Given the description of an element on the screen output the (x, y) to click on. 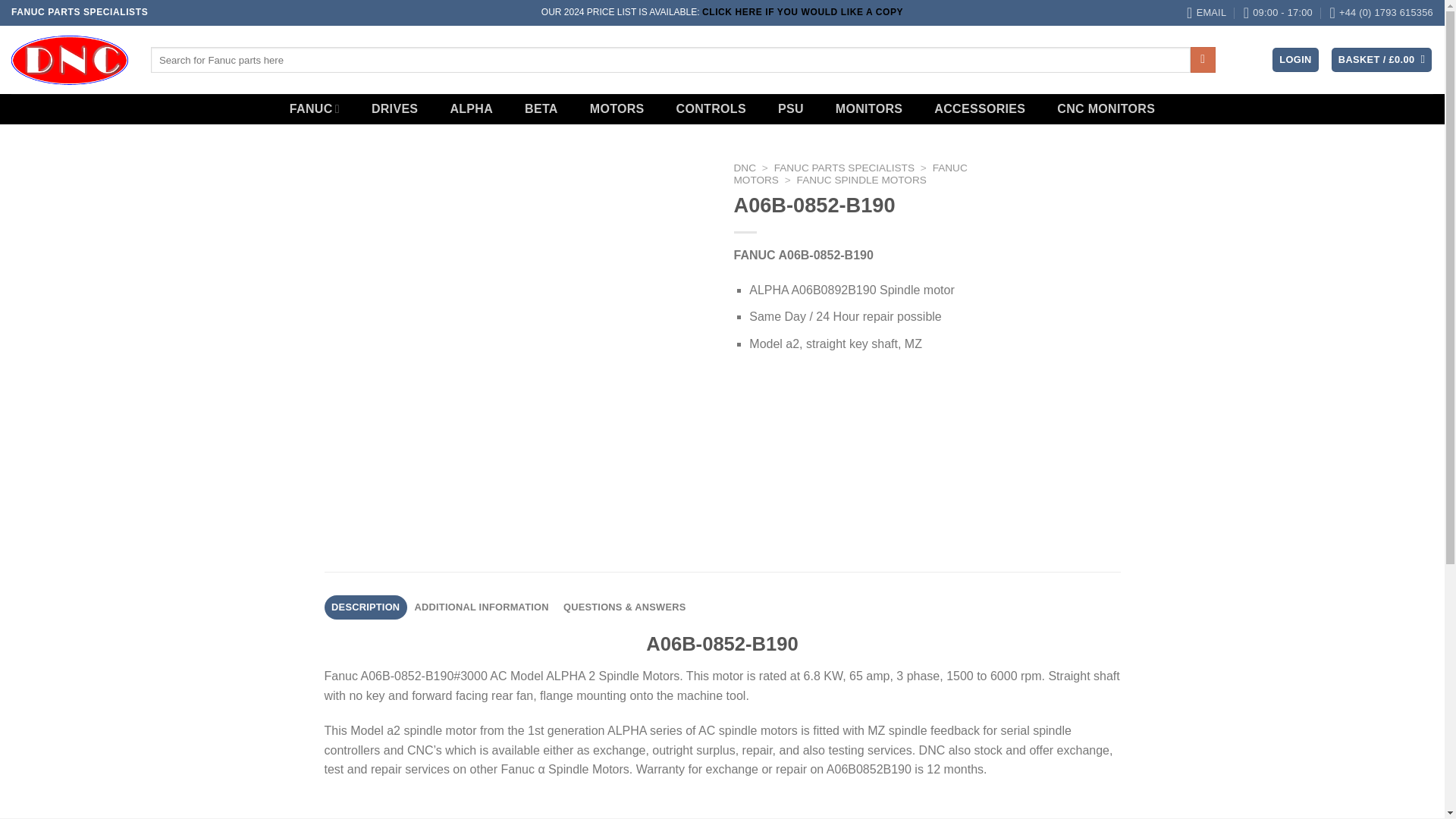
CNC MONITORS (1105, 109)
EMAIL (1205, 12)
Basket (1382, 59)
MONITORS (869, 109)
LOGIN (1294, 59)
ACCESSORIES (978, 109)
FANUC SPINDLE MOTORS (861, 179)
FANUC (315, 109)
FANUC MOTORS (850, 173)
FANUC PARTS SPECIALISTS (844, 167)
09:00 - 17:00 (1278, 12)
CONTROLS (710, 109)
CLICK HERE IF YOU WOULD LIKE A COPY (801, 11)
ALPHA (471, 109)
DESCRIPTION (365, 607)
